Given the description of an element on the screen output the (x, y) to click on. 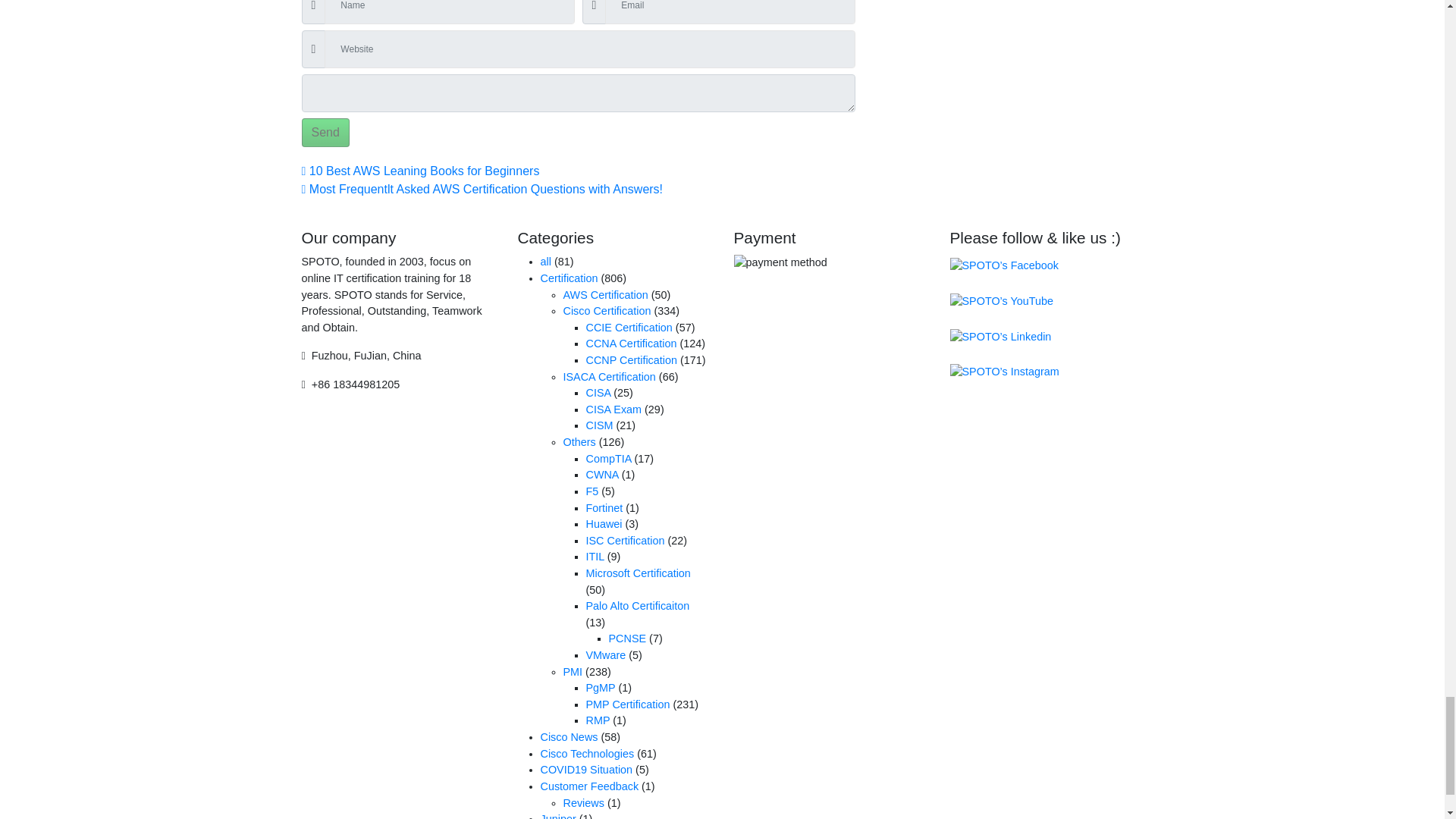
Send (325, 132)
